Given the description of an element on the screen output the (x, y) to click on. 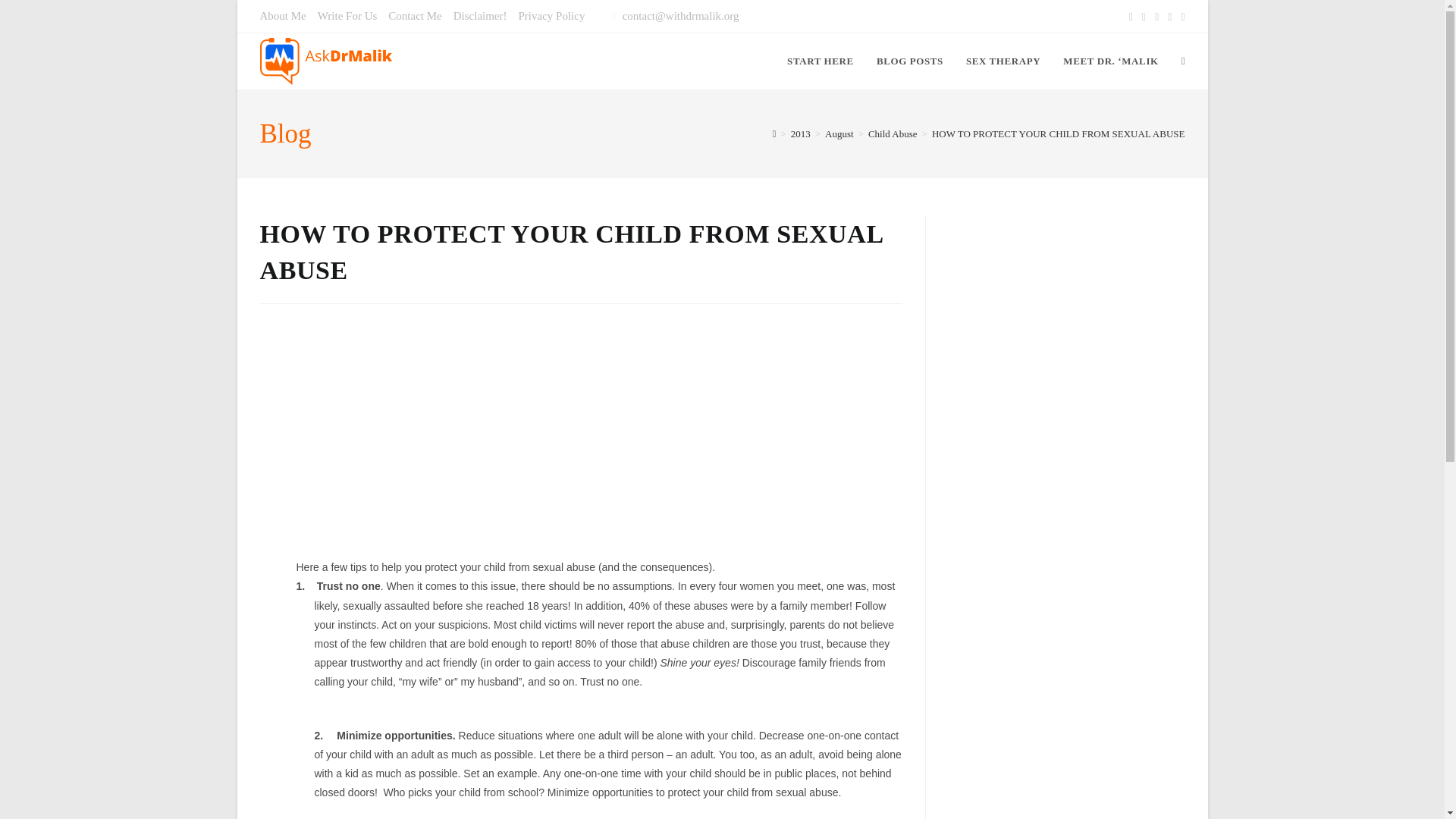
2013 (800, 132)
Child Abuse (892, 132)
BLOG POSTS (909, 61)
August (839, 132)
About Me (282, 15)
Write For Us (347, 15)
SEX THERAPY (1003, 61)
START HERE (820, 61)
HOW TO PROTECT YOUR CHILD FROM SEXUAL ABUSE (1058, 132)
Disclaimer! (479, 15)
